Given the description of an element on the screen output the (x, y) to click on. 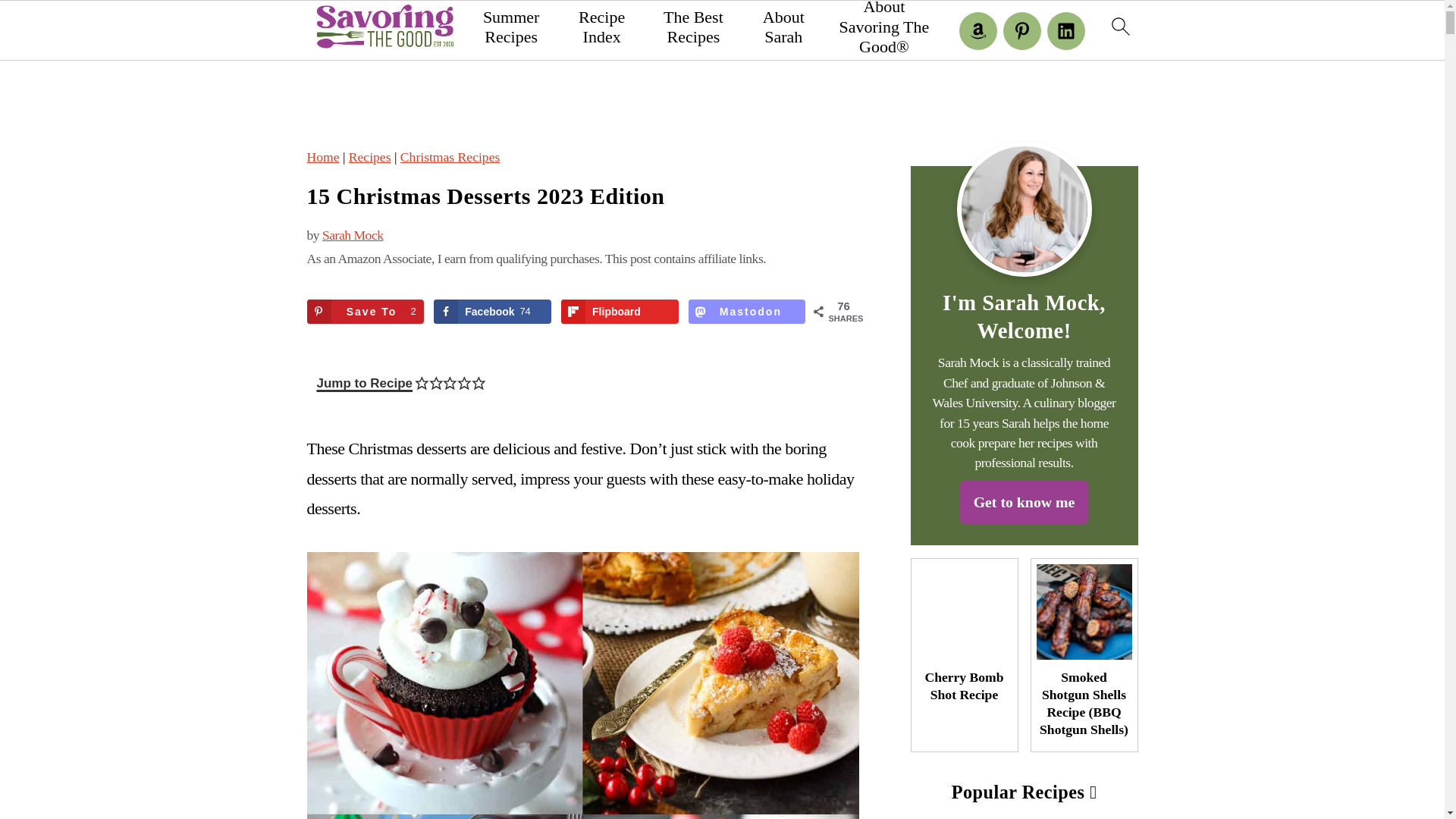
Share on Flipboard (619, 311)
Save to Pinterest (364, 311)
Summer Recipes (510, 27)
search icon (1119, 26)
Share on Facebook (492, 311)
Recipe Index (601, 27)
The Best Recipes (693, 27)
About Sarah (783, 27)
Share on Mastodon (747, 311)
